Given the description of an element on the screen output the (x, y) to click on. 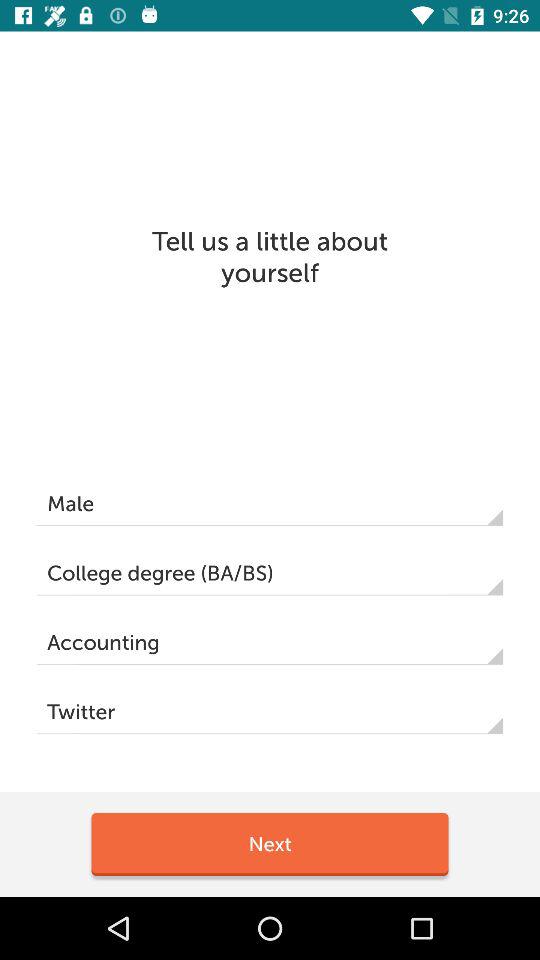
scroll to the next (269, 844)
